Given the description of an element on the screen output the (x, y) to click on. 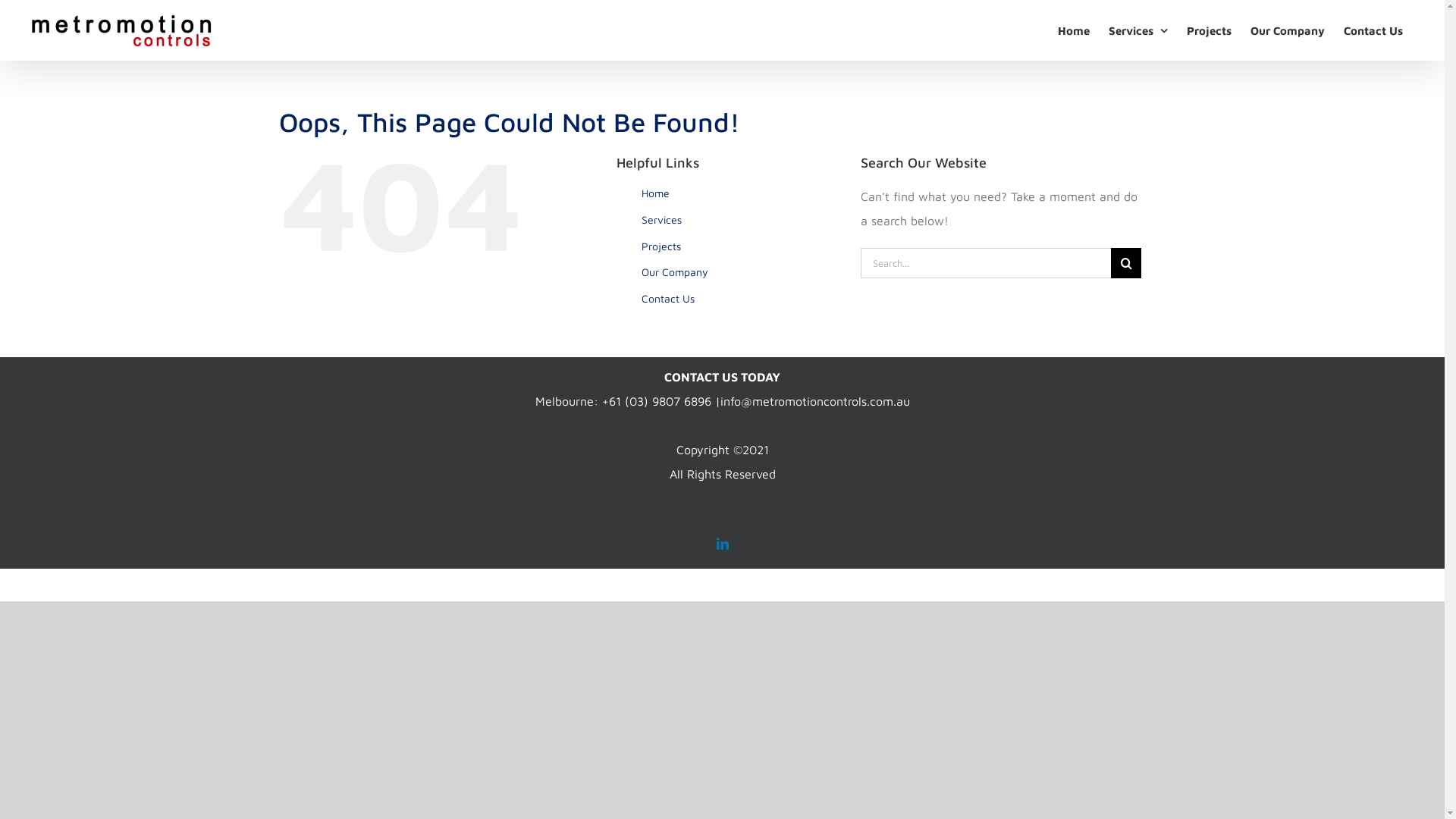
Contact Us Element type: text (667, 297)
Projects Element type: text (660, 245)
Services Element type: text (661, 219)
Contact Us Element type: text (1372, 30)
Home Element type: text (1073, 30)
Services Element type: text (1137, 30)
Our Company Element type: text (1287, 30)
Projects Element type: text (1208, 30)
Our Company Element type: text (674, 271)
Home Element type: text (655, 192)
